Given the description of an element on the screen output the (x, y) to click on. 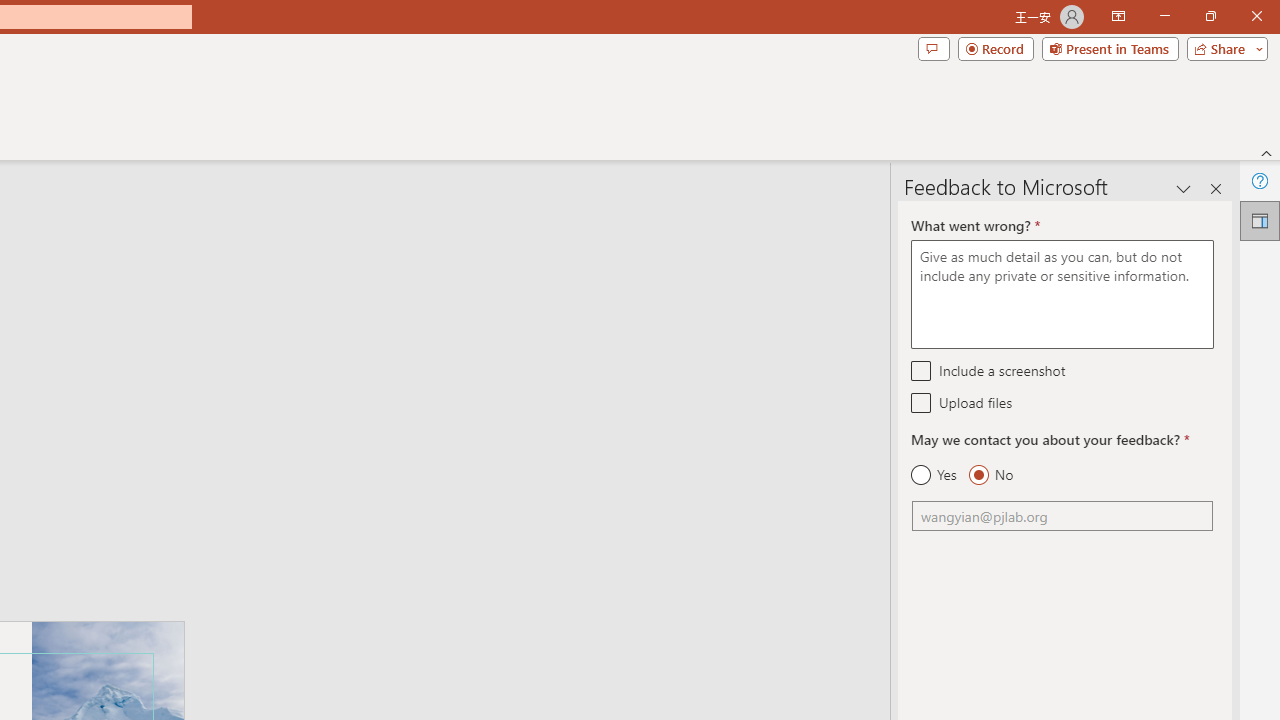
Minimize (1164, 16)
Record (995, 48)
Ribbon Display Options (1118, 16)
No (990, 475)
Upload files (921, 402)
Include a screenshot (921, 370)
Task Pane Options (1183, 188)
Comments (933, 48)
Close (1256, 16)
Feedback to Microsoft (1260, 220)
Close pane (1215, 188)
What went wrong? * (1062, 294)
Help (1260, 180)
Restore Down (1210, 16)
